Given the description of an element on the screen output the (x, y) to click on. 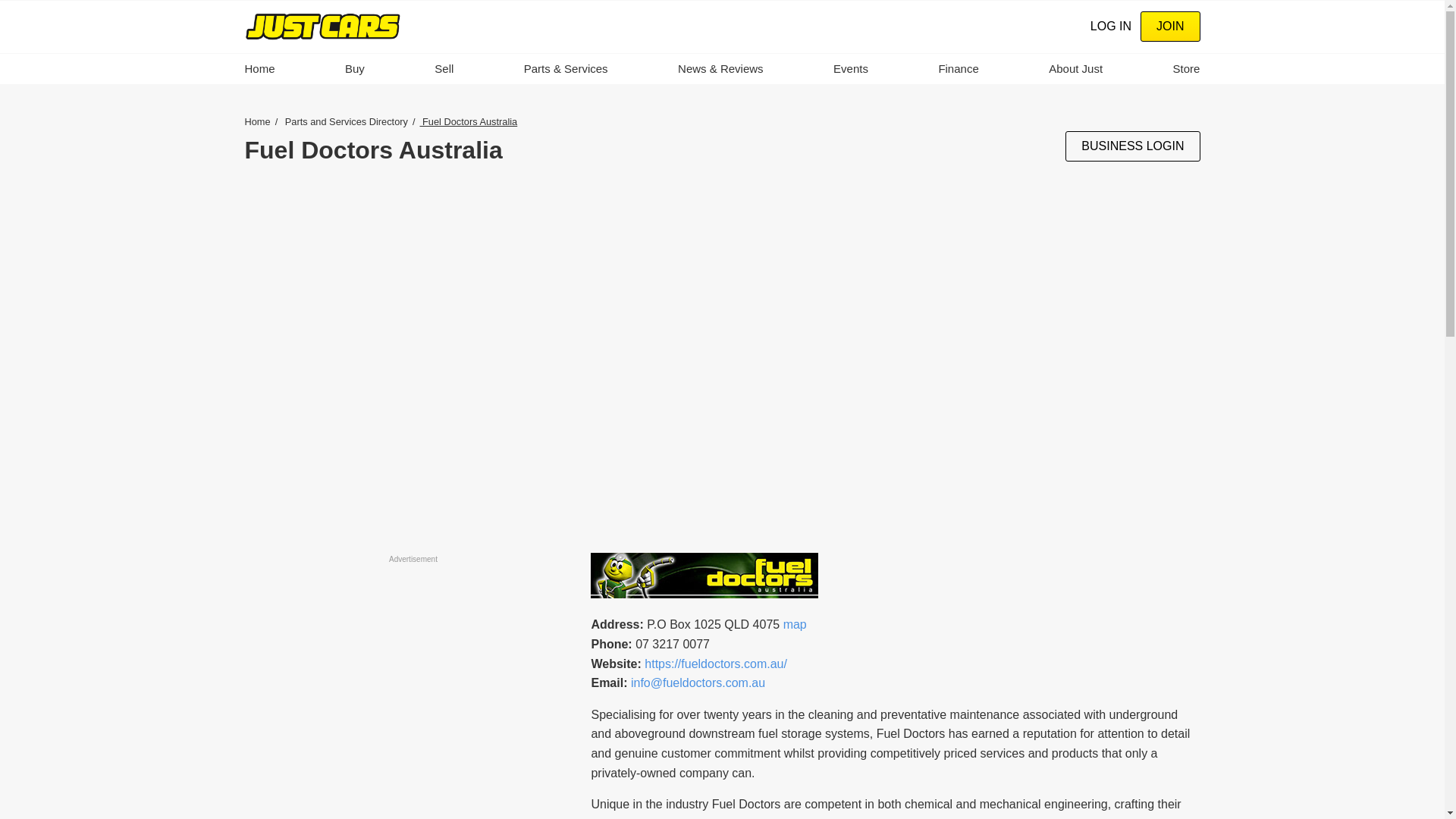
Gear Heads (1186, 69)
Finance (957, 69)
Home (321, 26)
About Just (1075, 69)
Events (849, 69)
JOIN (1169, 26)
LOG IN (1110, 26)
Store (1186, 69)
Home (259, 69)
